Given the description of an element on the screen output the (x, y) to click on. 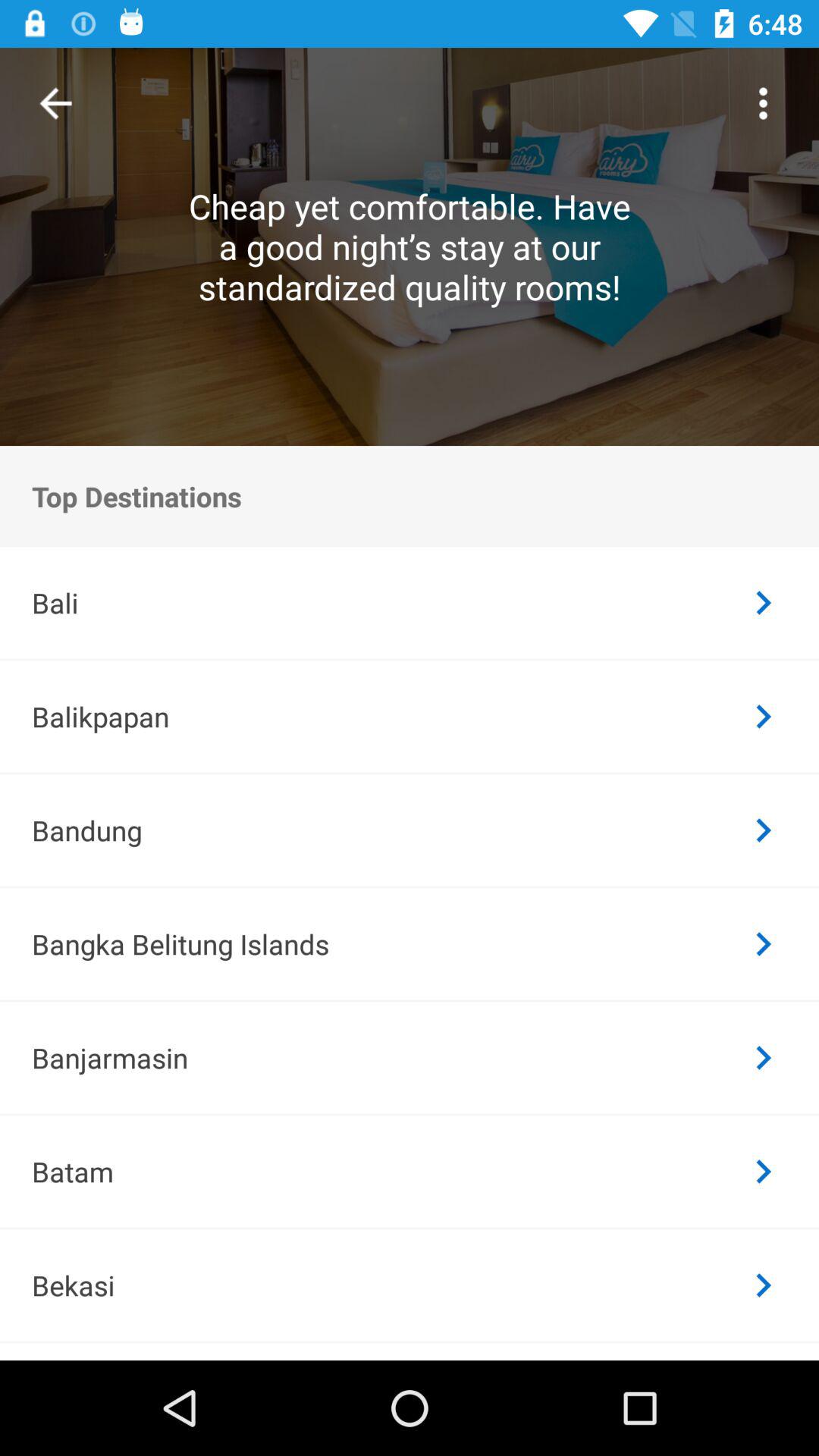
a standard back button (55, 103)
